Given the description of an element on the screen output the (x, y) to click on. 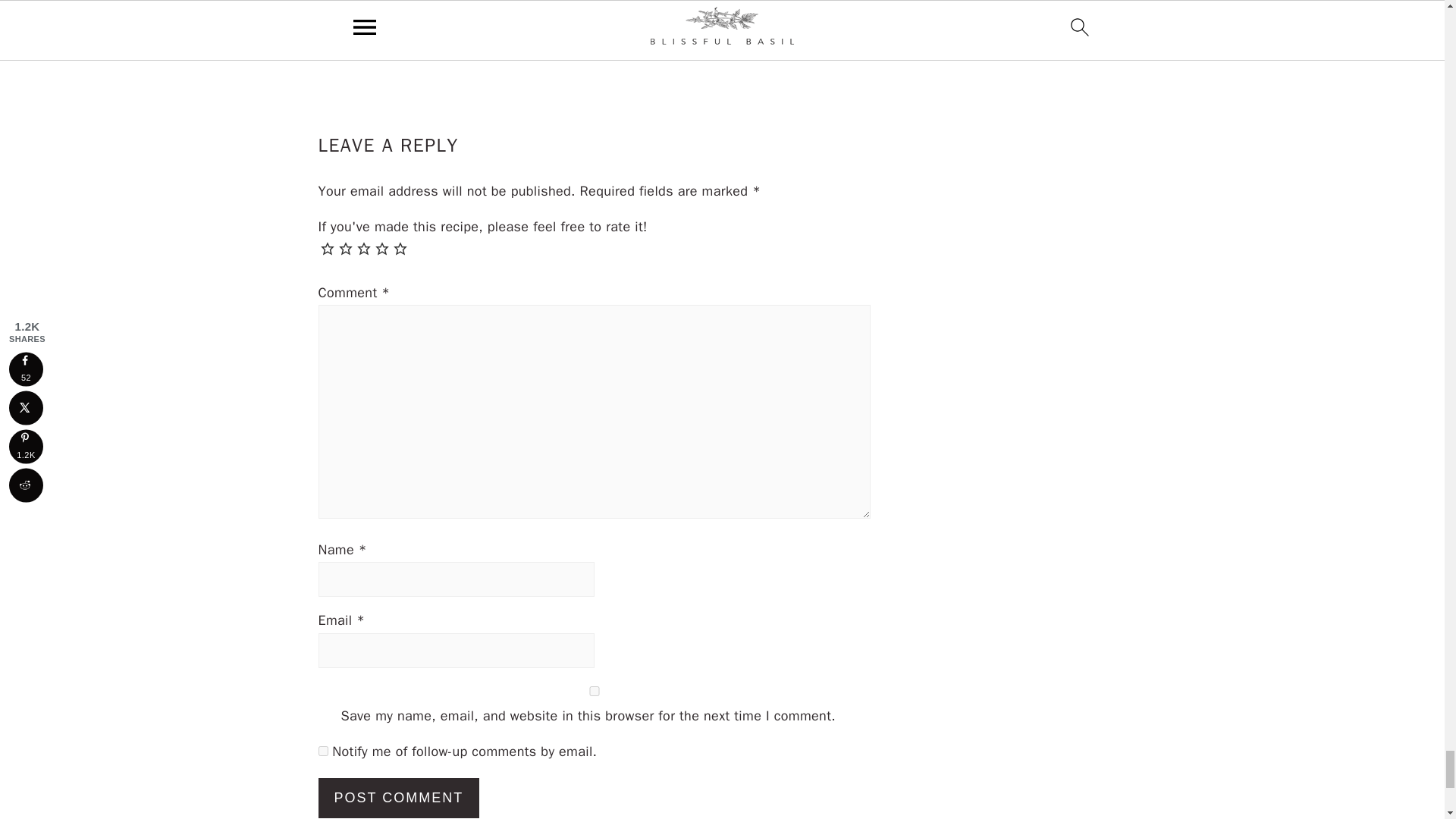
Post Comment (399, 798)
yes (594, 691)
subscribe (323, 750)
